Given the description of an element on the screen output the (x, y) to click on. 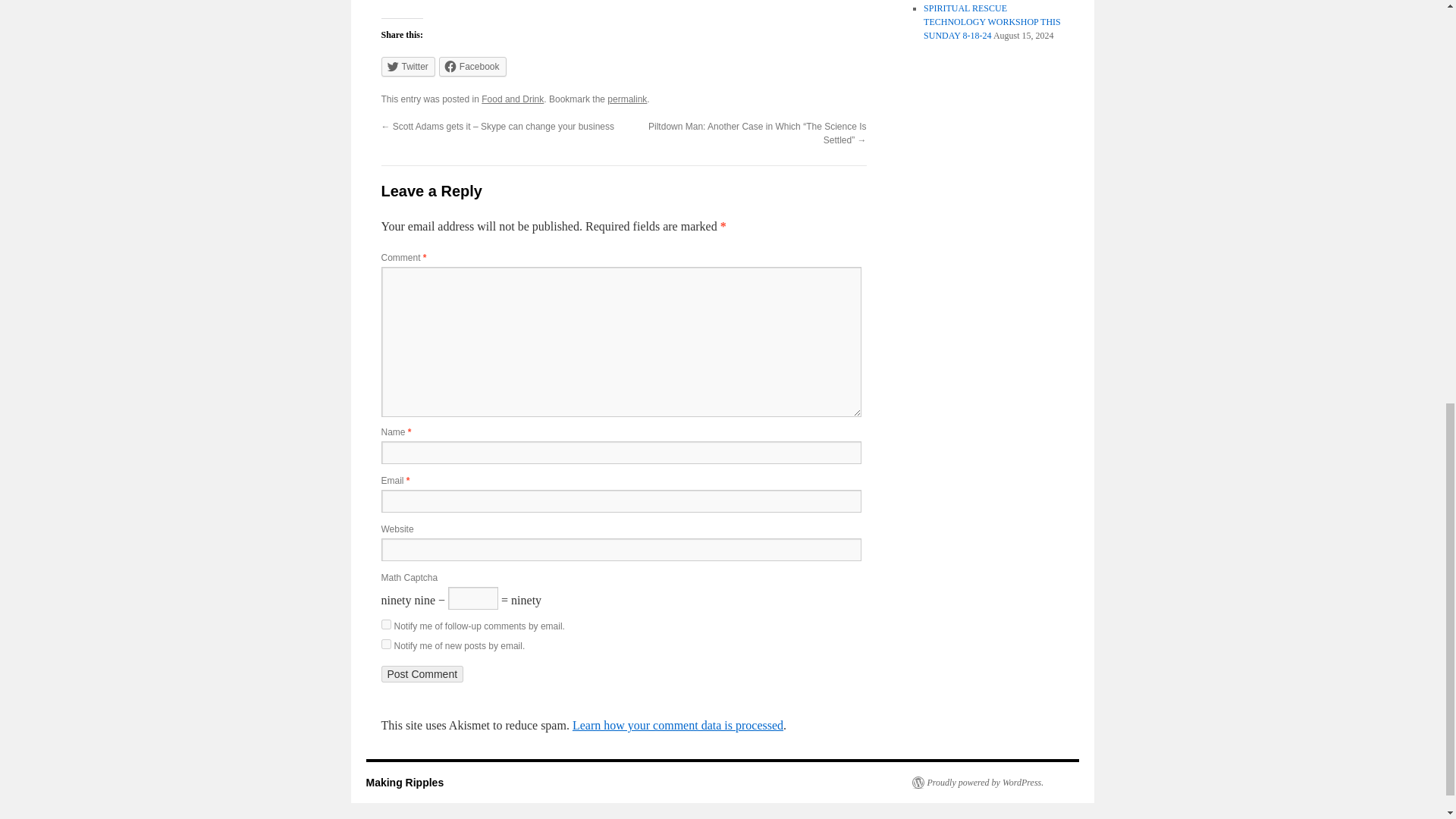
Making Ripples (404, 782)
Post Comment (421, 673)
Post Comment (421, 673)
Facebook (472, 66)
Making Ripples (404, 782)
Twitter (406, 66)
Proudly powered by WordPress. (977, 782)
Semantic Personal Publishing Platform (977, 782)
Food and Drink (512, 99)
